Given the description of an element on the screen output the (x, y) to click on. 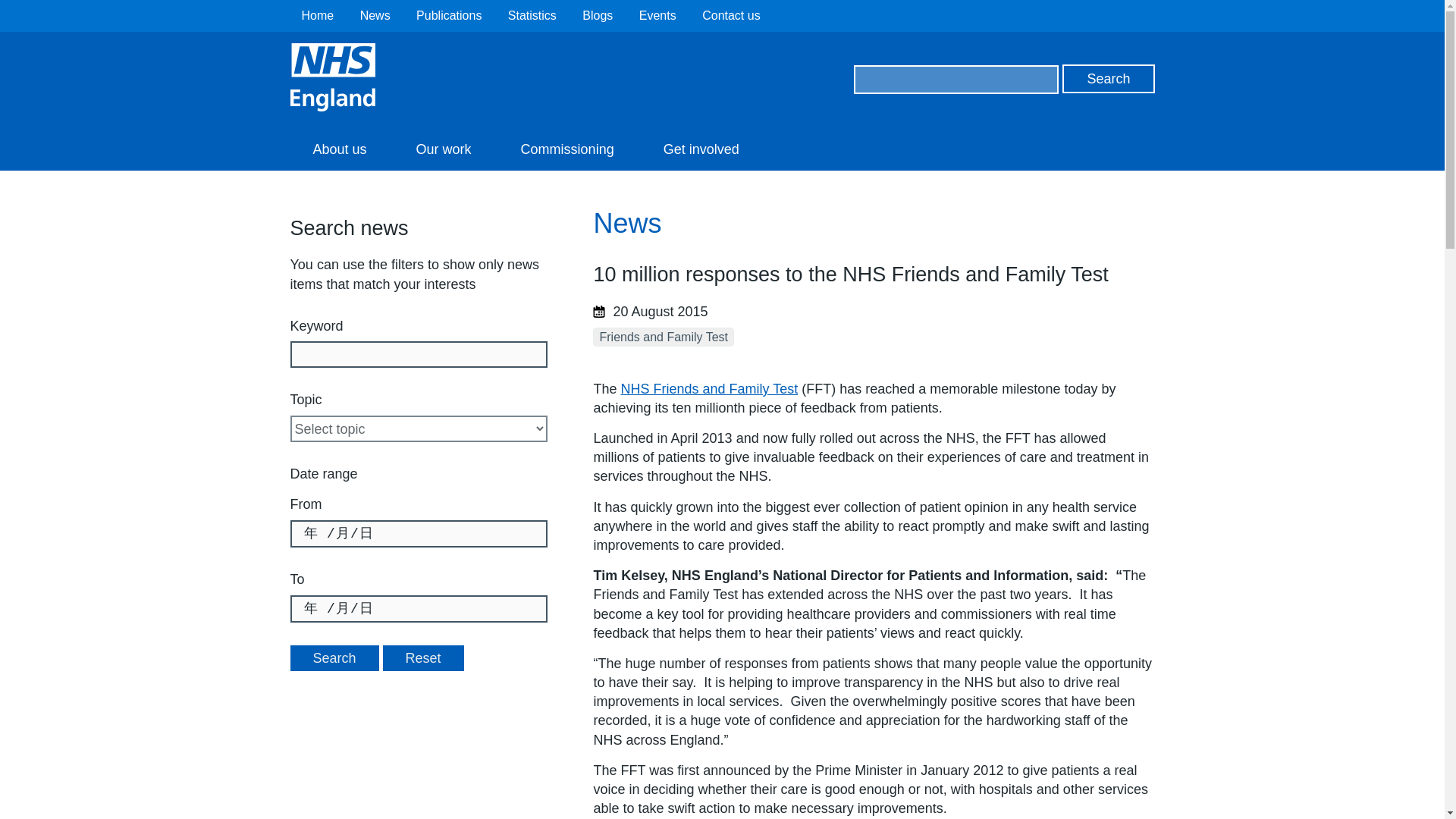
Commissioning (567, 149)
Search (333, 657)
Our work (444, 149)
NHS Friends and Family Test (709, 388)
Search (1108, 78)
About us (338, 149)
Home (317, 15)
About NHS England (338, 149)
News (374, 15)
Publications (448, 15)
